Given the description of an element on the screen output the (x, y) to click on. 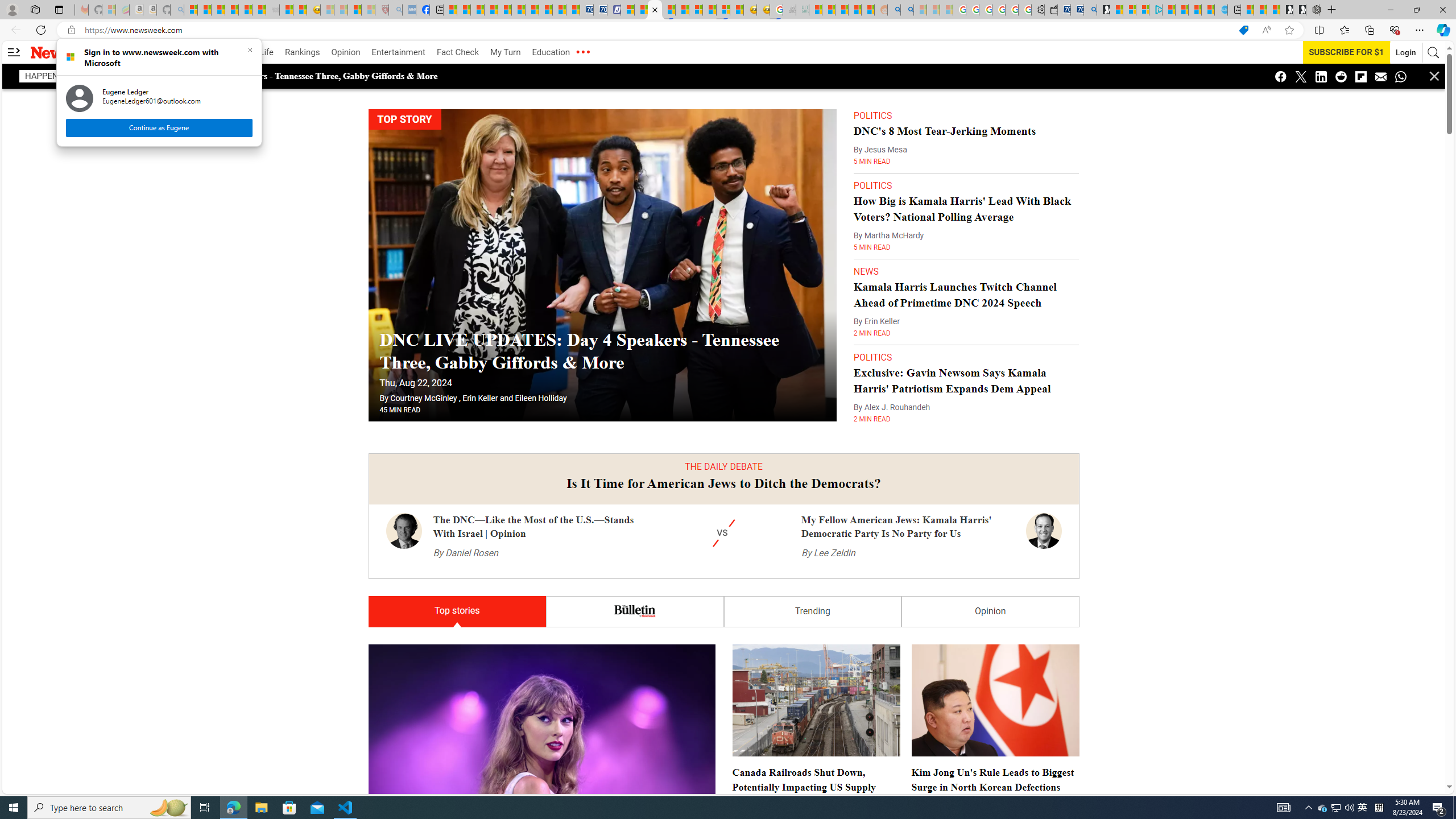
Cheap Hotels - Save70.com (599, 9)
By Courtney McGinley (418, 397)
Class: icon-whatsapp (1400, 75)
